Given the description of an element on the screen output the (x, y) to click on. 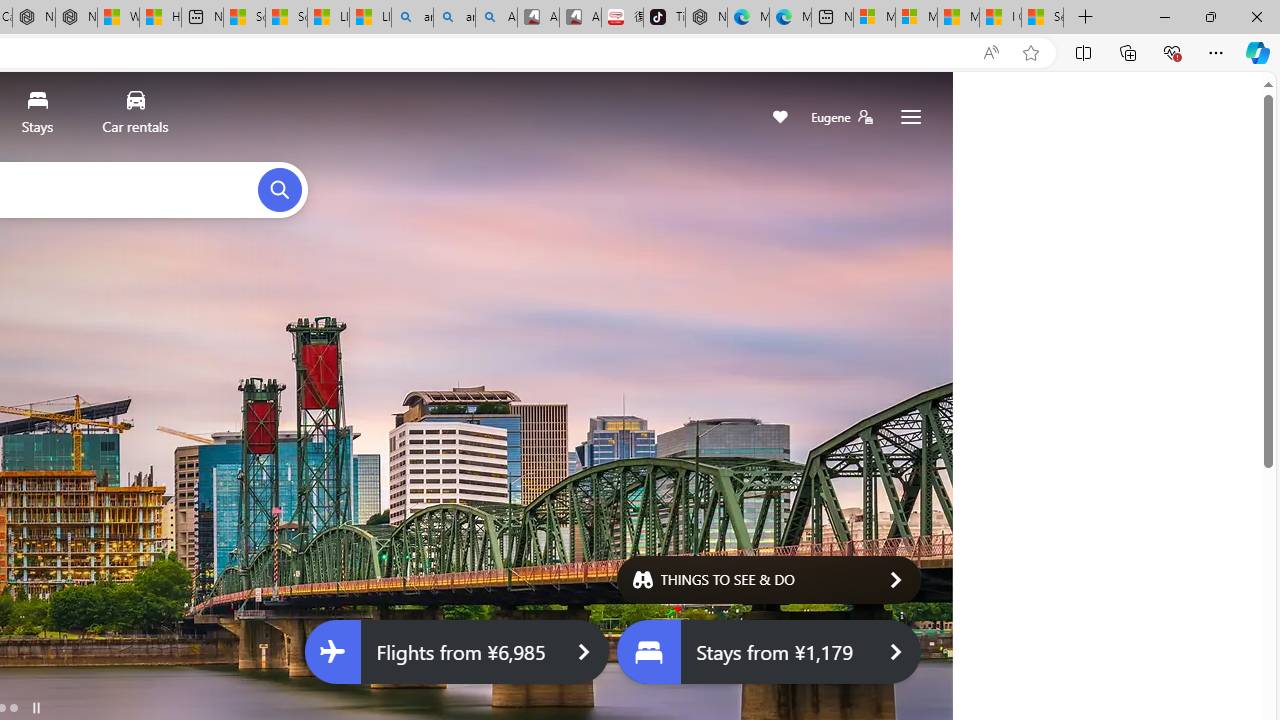
Microsoft account | Privacy (916, 17)
Browser essentials (1171, 52)
amazon - Search (411, 17)
TikTok (663, 17)
Minimize (1164, 16)
Amazon Echo Robot - Search Images (496, 17)
